Given the description of an element on the screen output the (x, y) to click on. 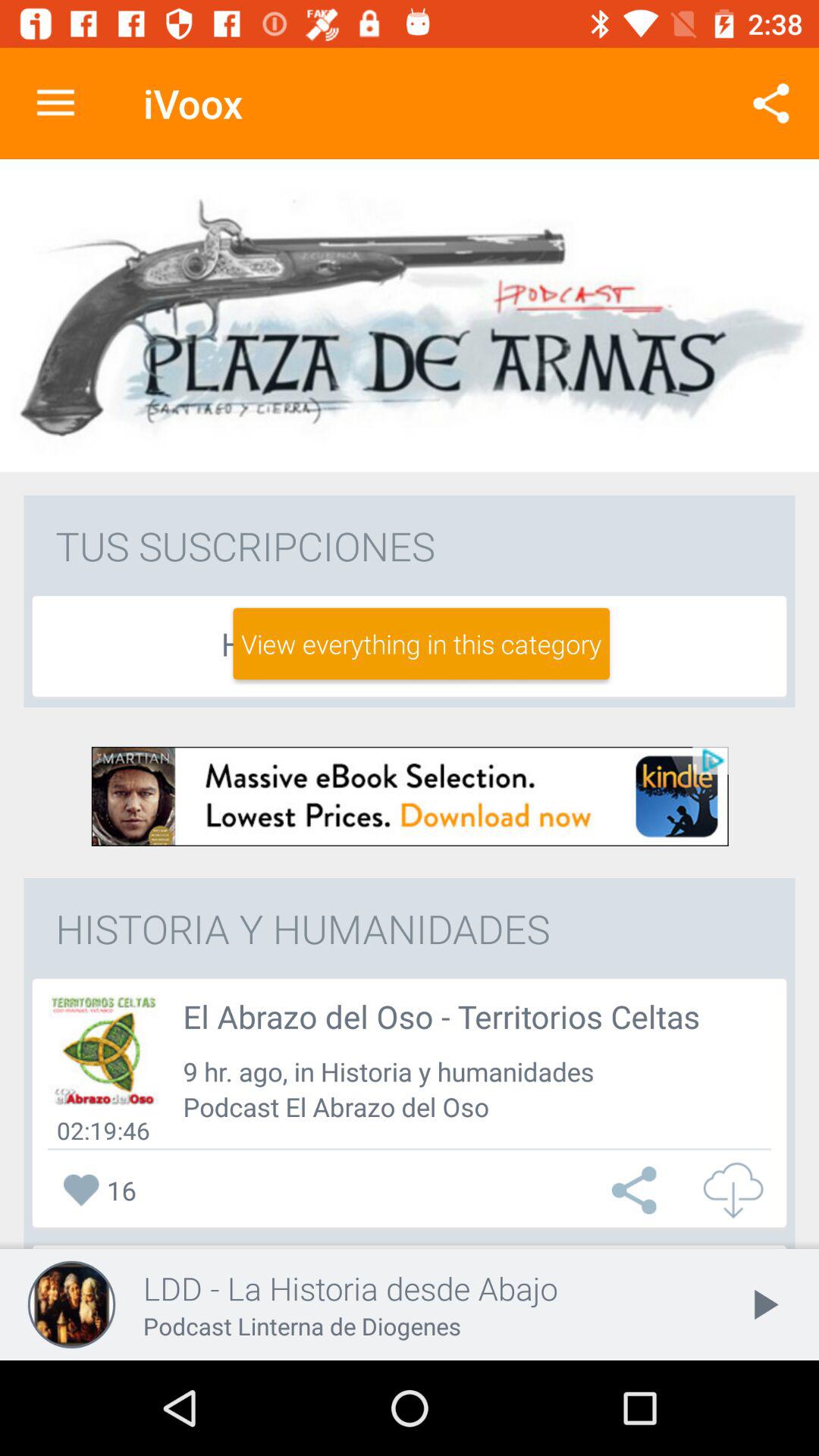
view this podcast episode (103, 1050)
